Given the description of an element on the screen output the (x, y) to click on. 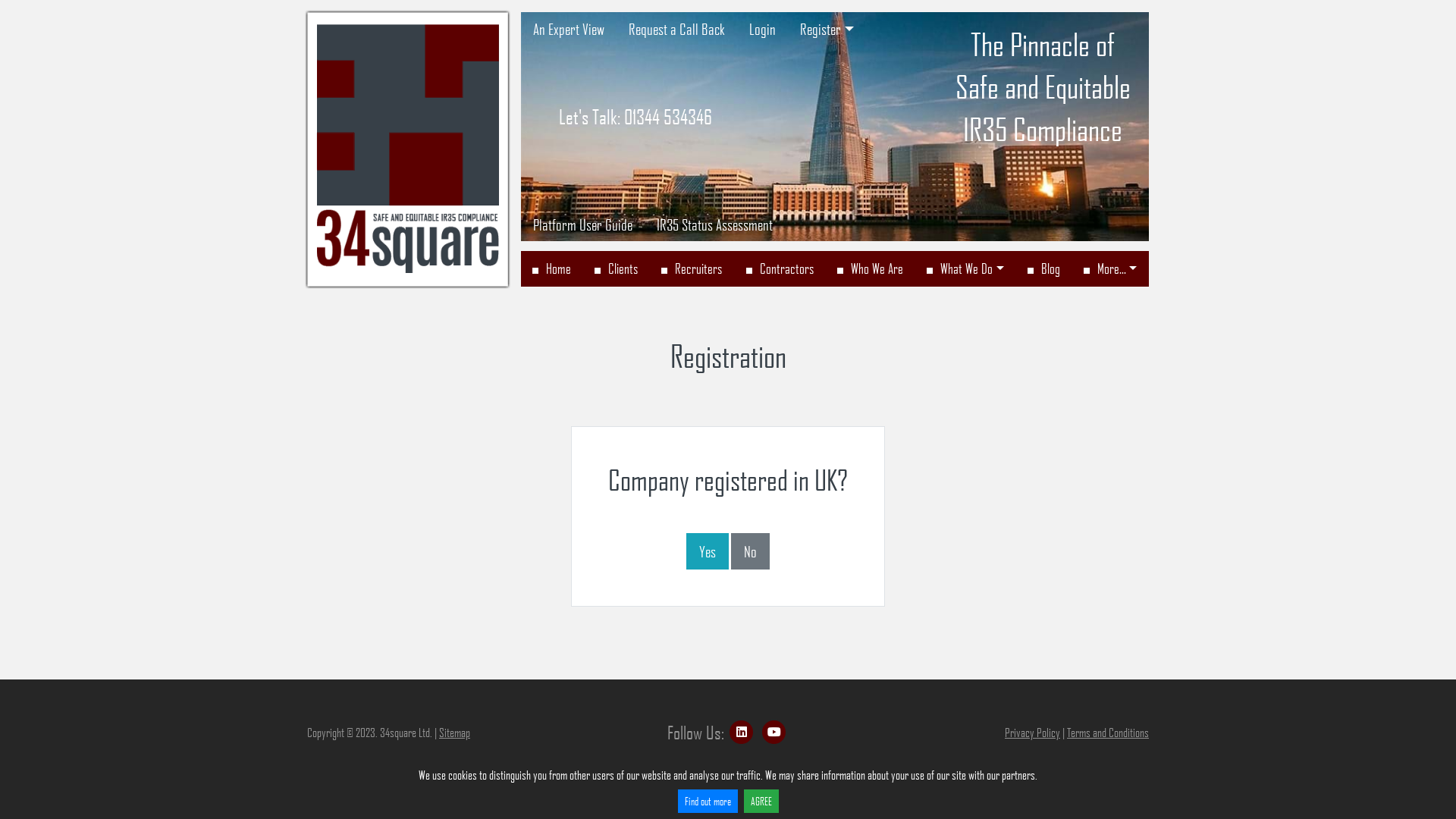
An Expert View Element type: text (567, 28)
Platform User Guide Element type: text (581, 224)
More... Element type: text (1109, 269)
Blog Element type: text (1043, 269)
AGREE Element type: text (760, 800)
Home Element type: text (551, 269)
Clients Element type: text (616, 269)
Register Element type: text (826, 28)
Linkedin Element type: hover (741, 732)
Yes Element type: text (707, 551)
Request a Call Back Element type: text (675, 28)
Find out more Element type: text (707, 800)
Contractors Element type: text (779, 269)
Recruiters Element type: text (691, 269)
No Element type: text (750, 551)
What We Do Element type: text (964, 269)
IR35 Status Assessment Element type: text (714, 224)
Sitemap Element type: text (454, 731)
Who We Are Element type: text (869, 269)
Login Element type: text (762, 28)
YouTube Element type: hover (773, 732)
Privacy Policy Element type: text (1032, 731)
Let's Talk: 01344 534346 Element type: text (634, 116)
Terms and Conditions Element type: text (1107, 731)
34square Ltd. Element type: hover (407, 149)
